Given the description of an element on the screen output the (x, y) to click on. 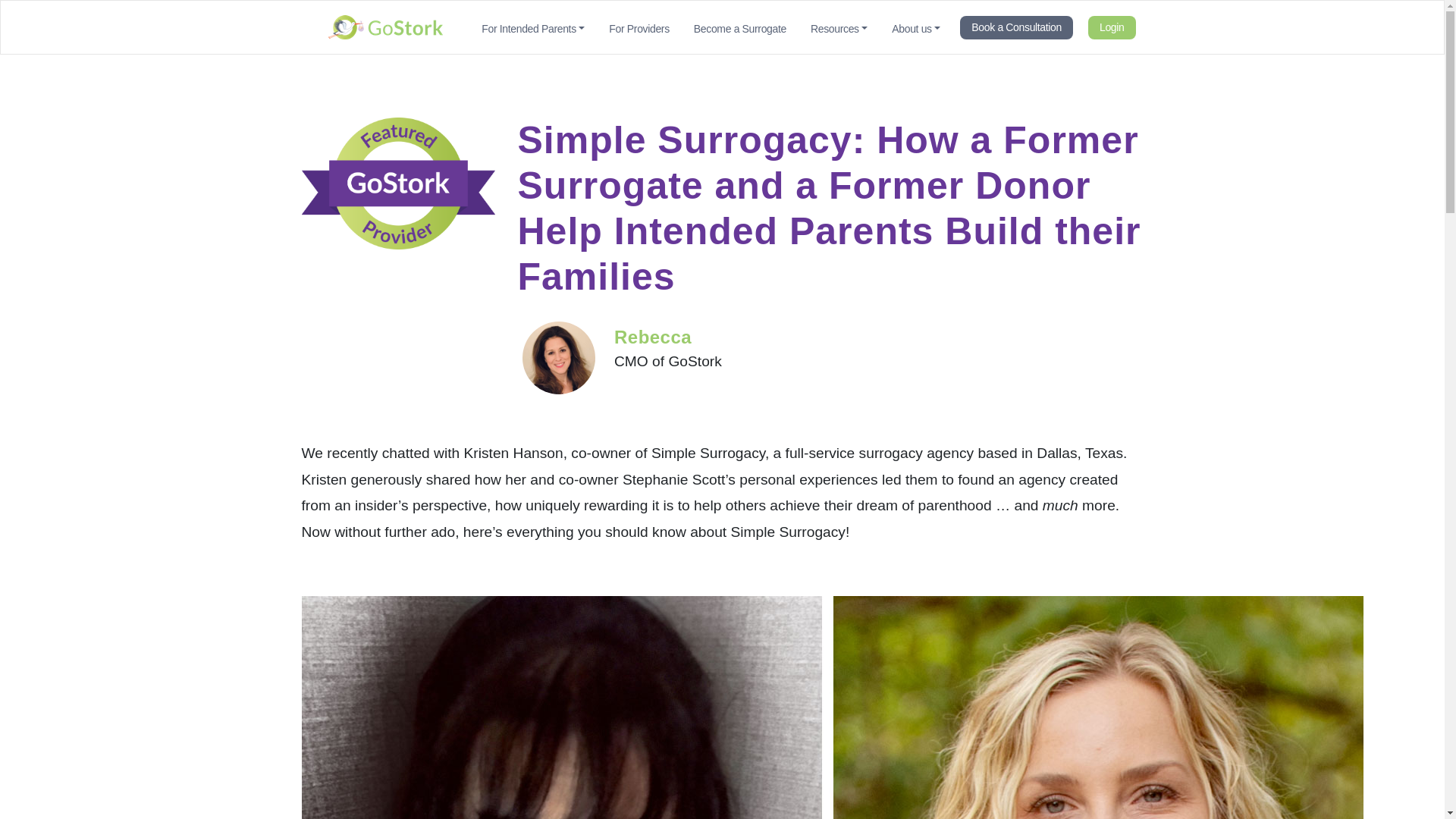
Book a Consultation (1016, 26)
For Providers (638, 27)
About us (915, 27)
Login (1111, 26)
Resources (838, 27)
For Intended Parents (532, 27)
Become a Surrogate (739, 27)
